Given the description of an element on the screen output the (x, y) to click on. 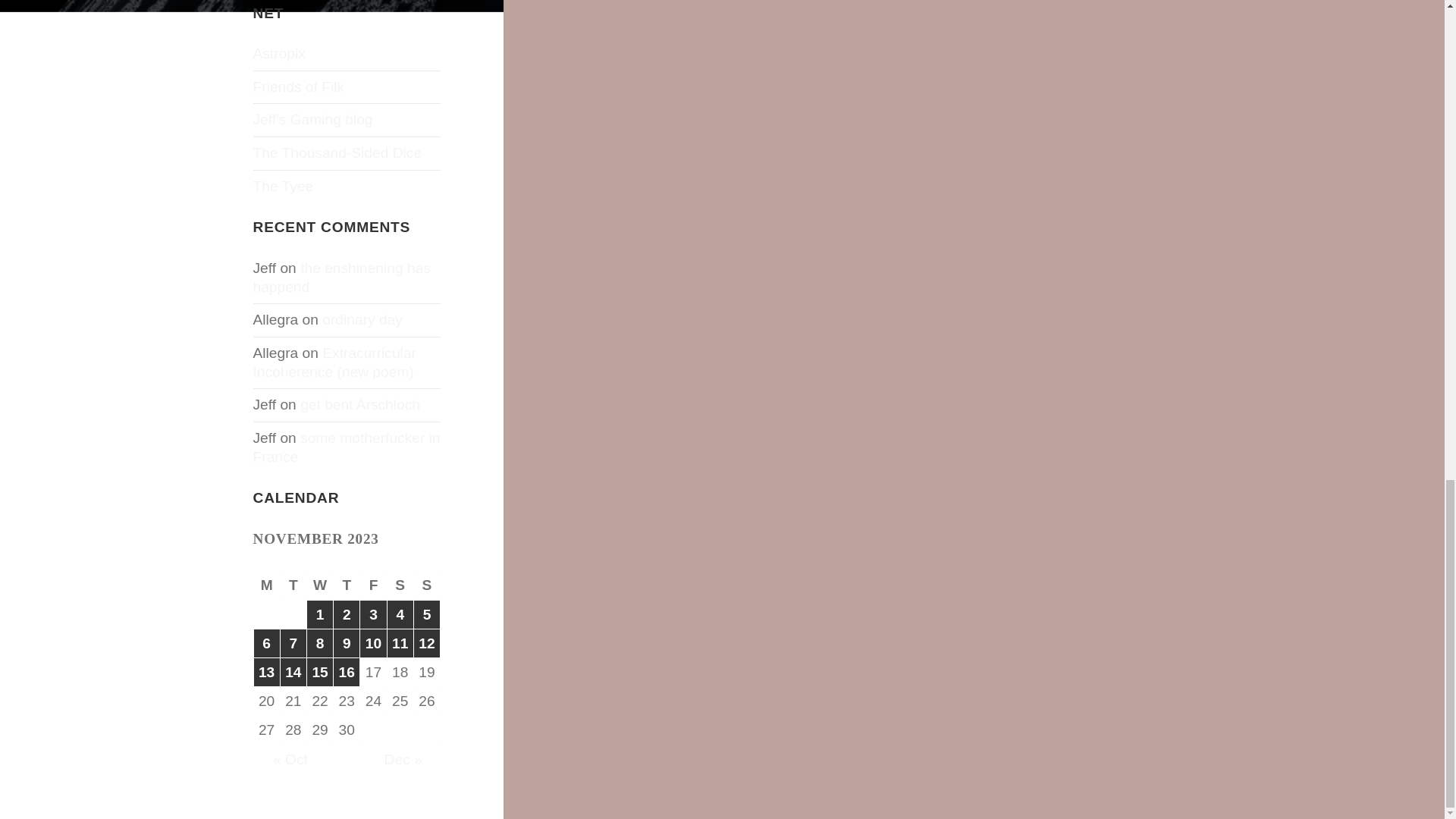
Thursday (346, 584)
10 (372, 643)
Sunday (427, 584)
7 (293, 643)
Filk site (298, 86)
9 (346, 643)
1 (320, 614)
Jeff's Gaming blog (312, 119)
The Thousand-Sided Dice (337, 152)
12 (426, 643)
Friday (373, 584)
6 (266, 643)
ordinary day (362, 319)
13 (266, 672)
